Given the description of an element on the screen output the (x, y) to click on. 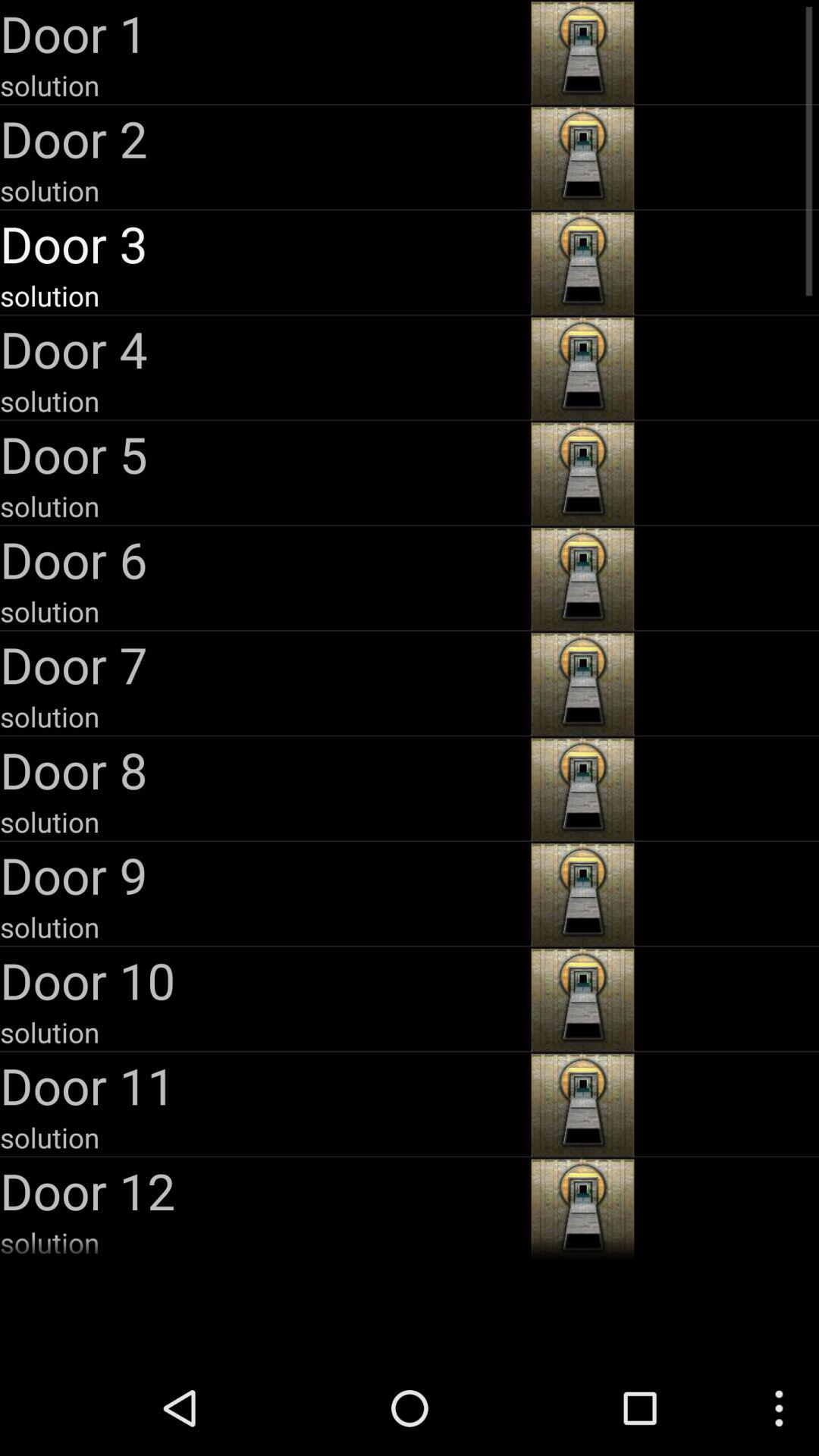
flip to the door 7 (263, 664)
